Given the description of an element on the screen output the (x, y) to click on. 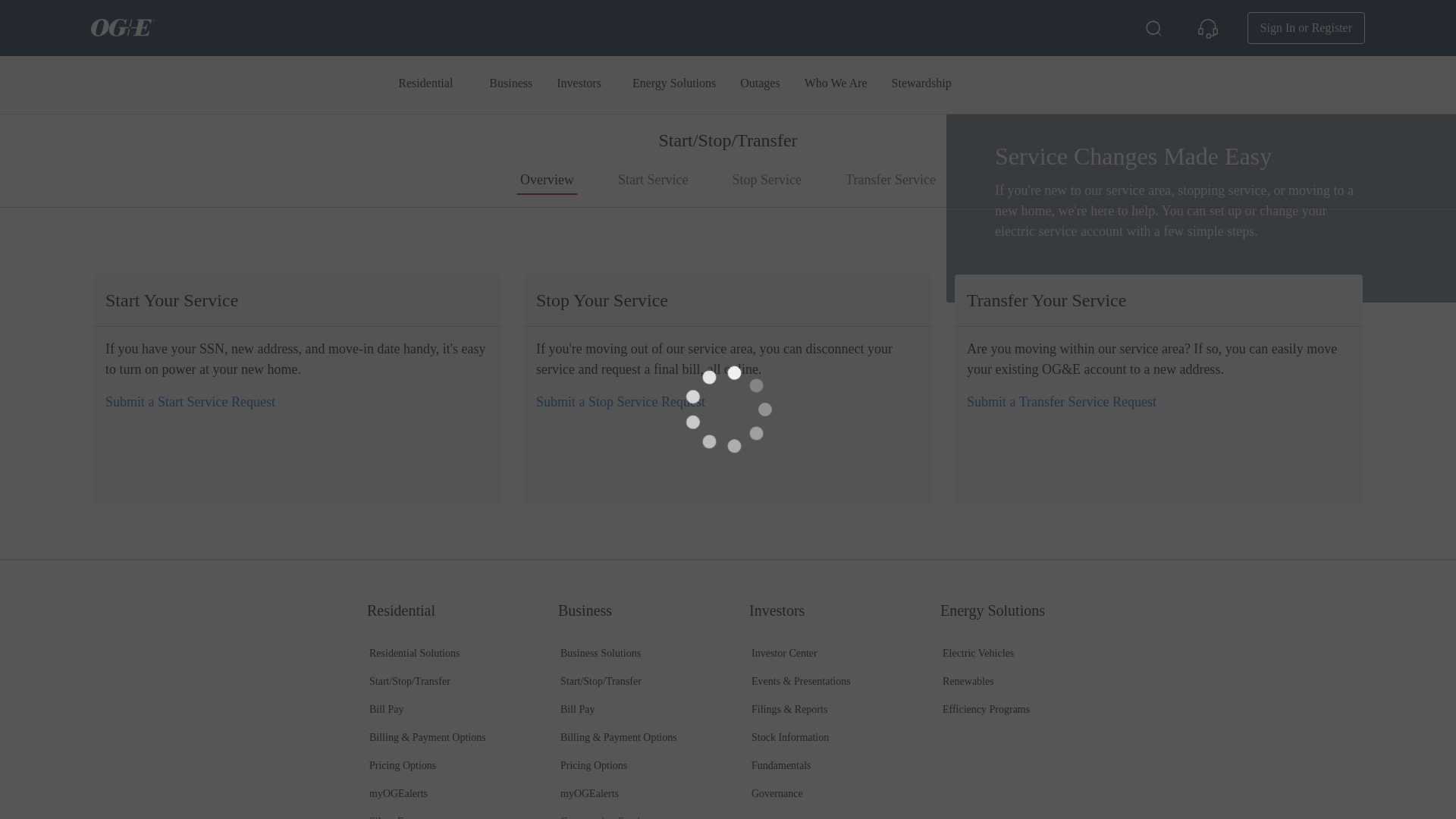
Residential (424, 84)
Business (510, 84)
Sign In or Register (1306, 28)
Energy Solutions (674, 84)
Investors (578, 84)
Stop Service (619, 401)
Transfer Service (1061, 401)
Outages (760, 84)
Start Service (189, 401)
Who We Are (835, 84)
